Given the description of an element on the screen output the (x, y) to click on. 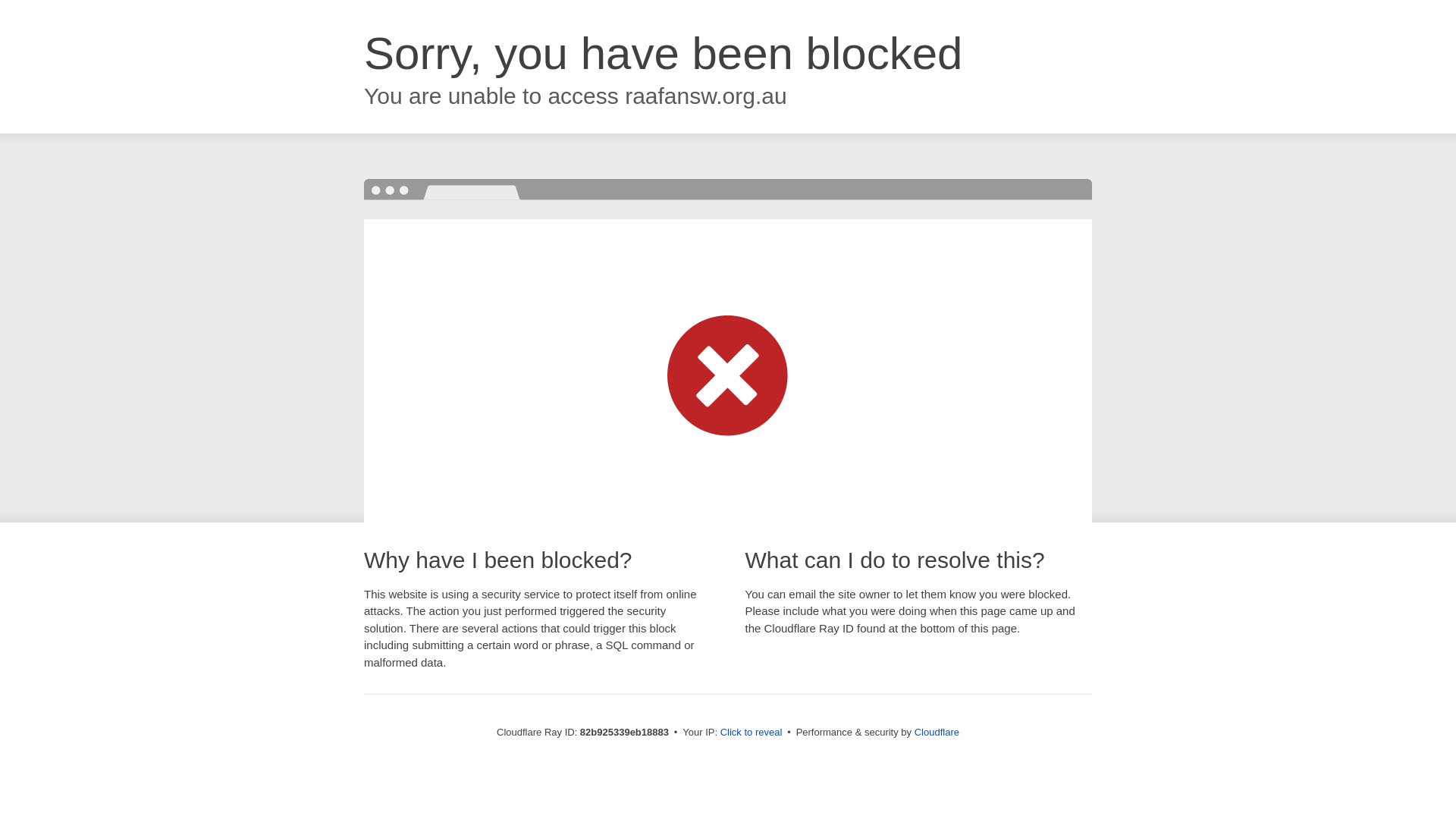
Click to reveal Element type: text (751, 732)
Cloudflare Element type: text (936, 731)
